Given the description of an element on the screen output the (x, y) to click on. 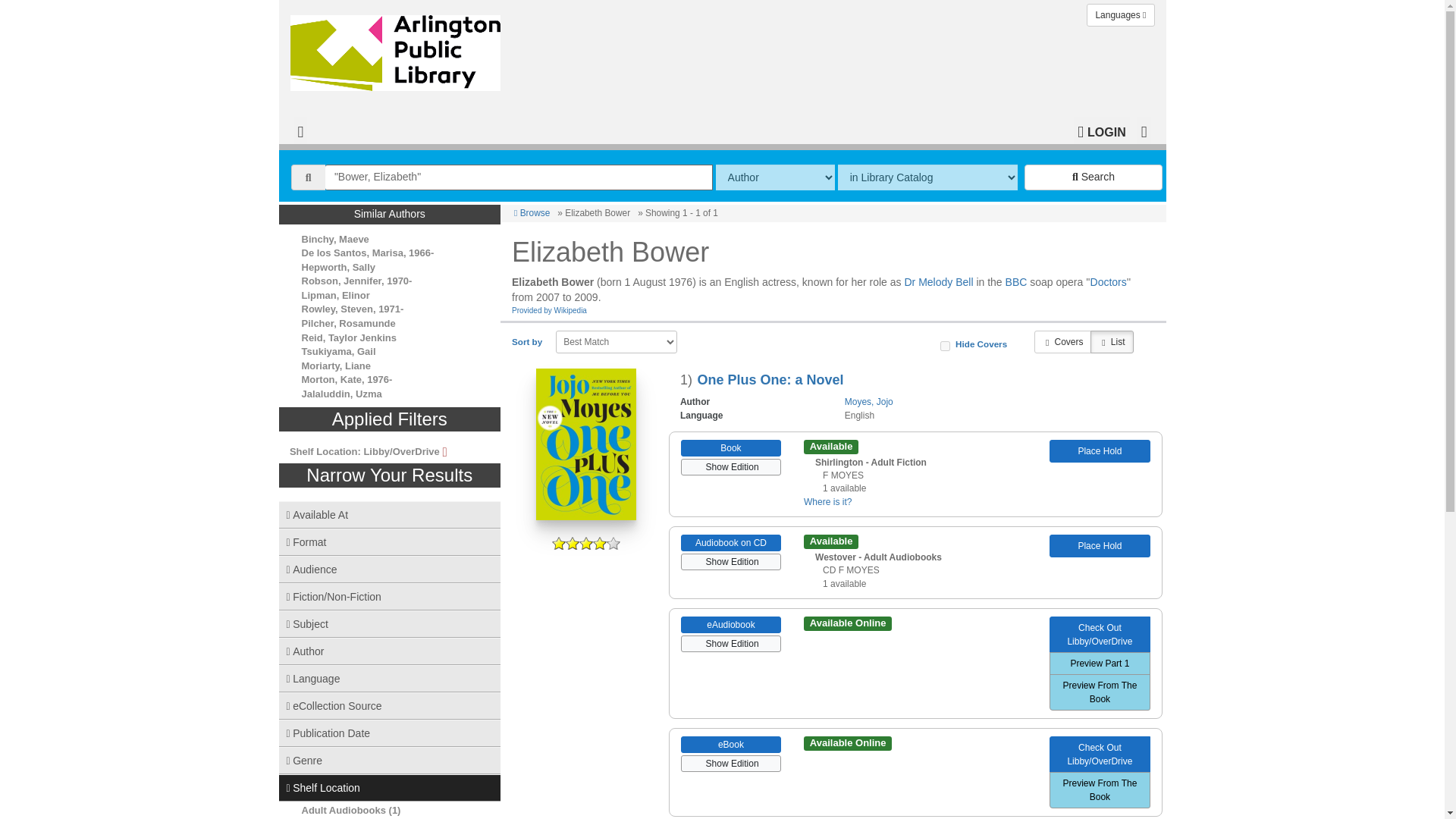
LOGIN (1101, 130)
Jalaluddin, Uzma (341, 393)
Pilcher, Rosamunde (348, 323)
Hepworth, Sally (338, 266)
Library Home Page (397, 48)
on (945, 346)
Binchy, Maeve (335, 238)
De los Santos, Marisa, 1966- (367, 252)
The method of searching. (775, 177)
Lipman, Elinor (335, 295)
Tsukiyama, Gail (338, 351)
Rowley, Steven, 1971- (352, 308)
Reid, Taylor Jenkins (348, 337)
Robson, Jennifer, 1970- (356, 280)
Languages  (1120, 15)
